Given the description of an element on the screen output the (x, y) to click on. 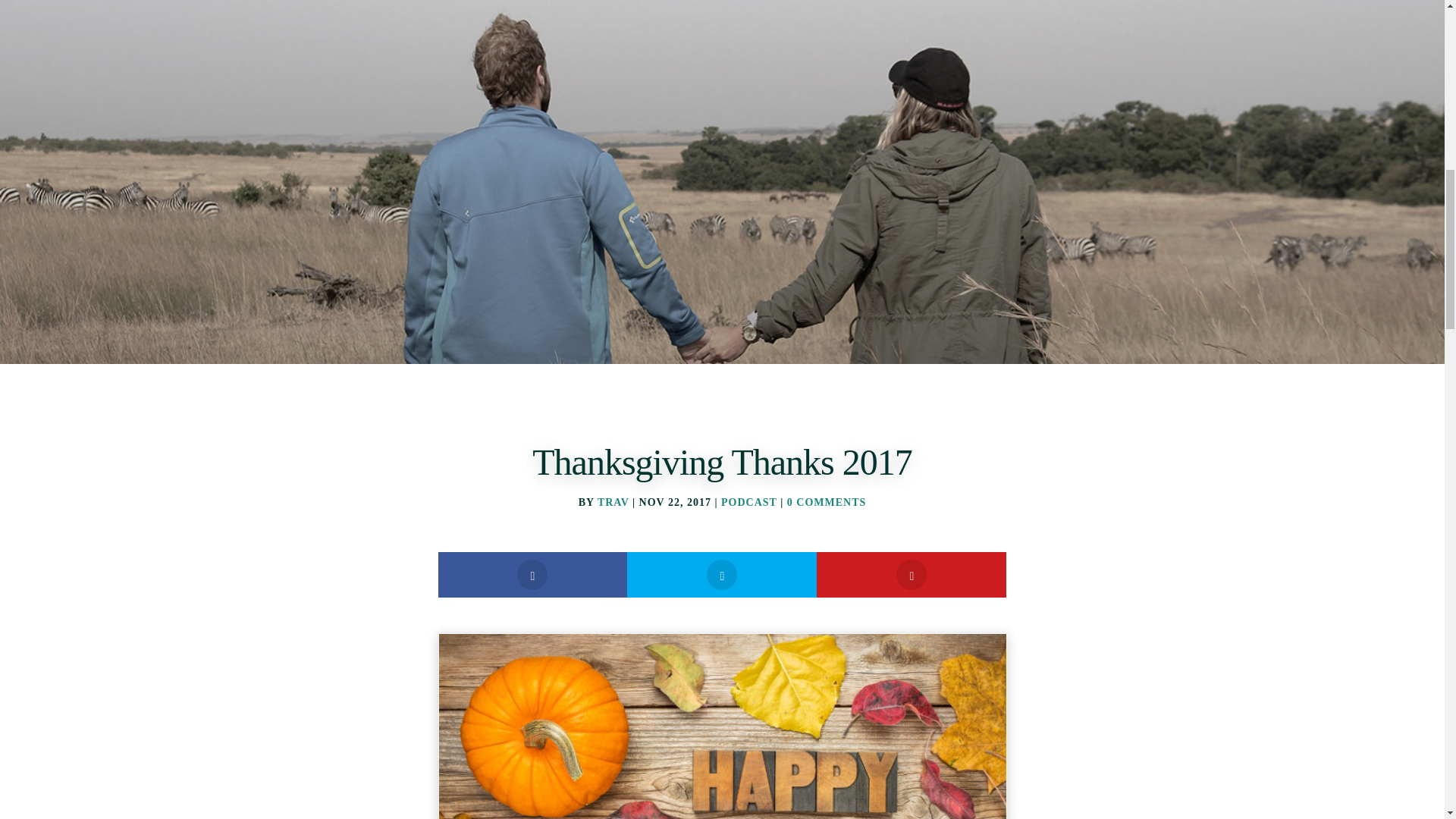
0 COMMENTS (826, 501)
Posts by Trav (612, 501)
TRAV (612, 501)
PODCAST (748, 501)
